Given the description of an element on the screen output the (x, y) to click on. 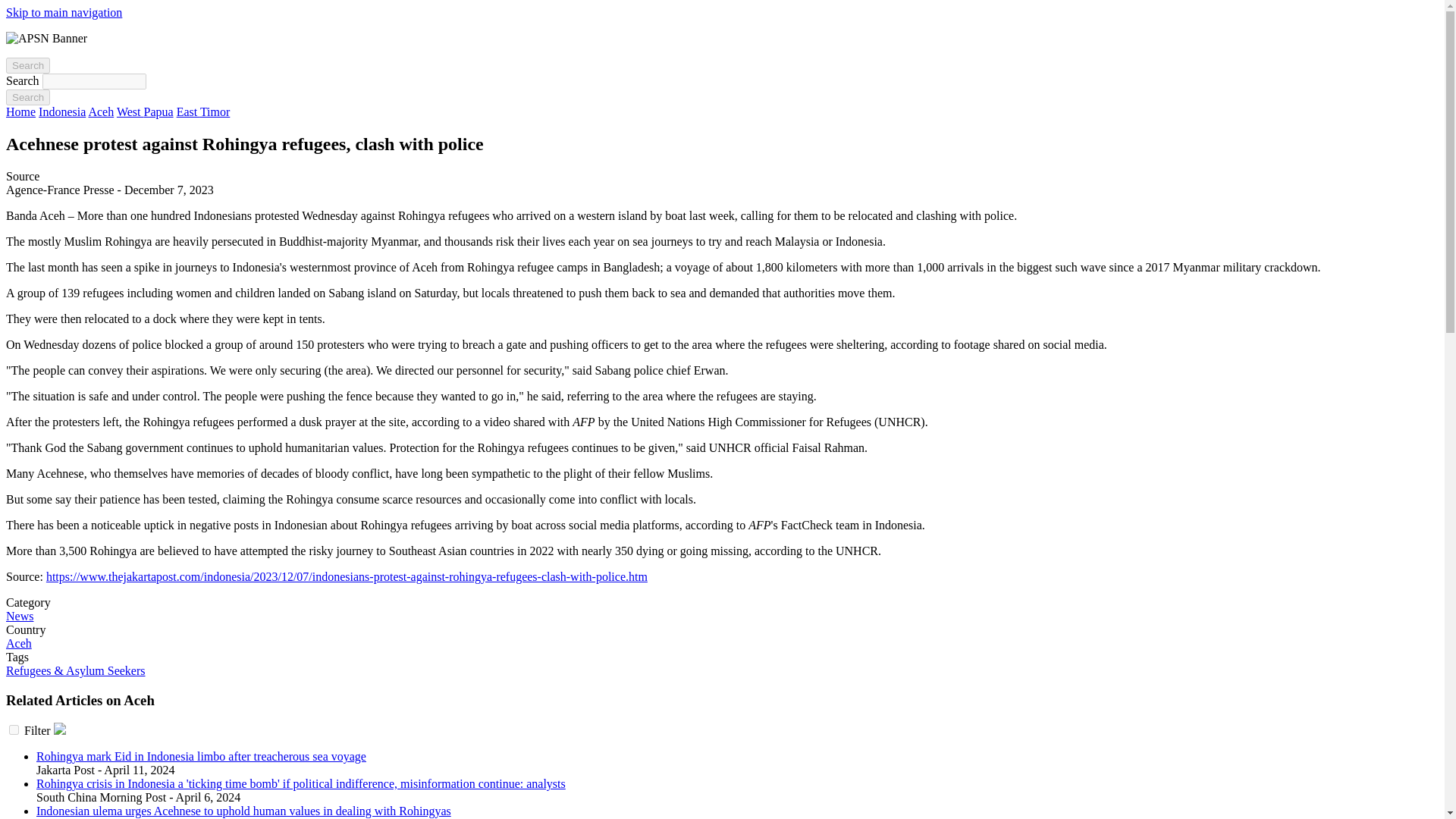
Search (27, 97)
East Timor (203, 111)
West Papua (144, 111)
Search (27, 65)
on (13, 729)
Indonesia (62, 111)
Aceh (18, 643)
Search (27, 97)
Search this site (27, 65)
